Given the description of an element on the screen output the (x, y) to click on. 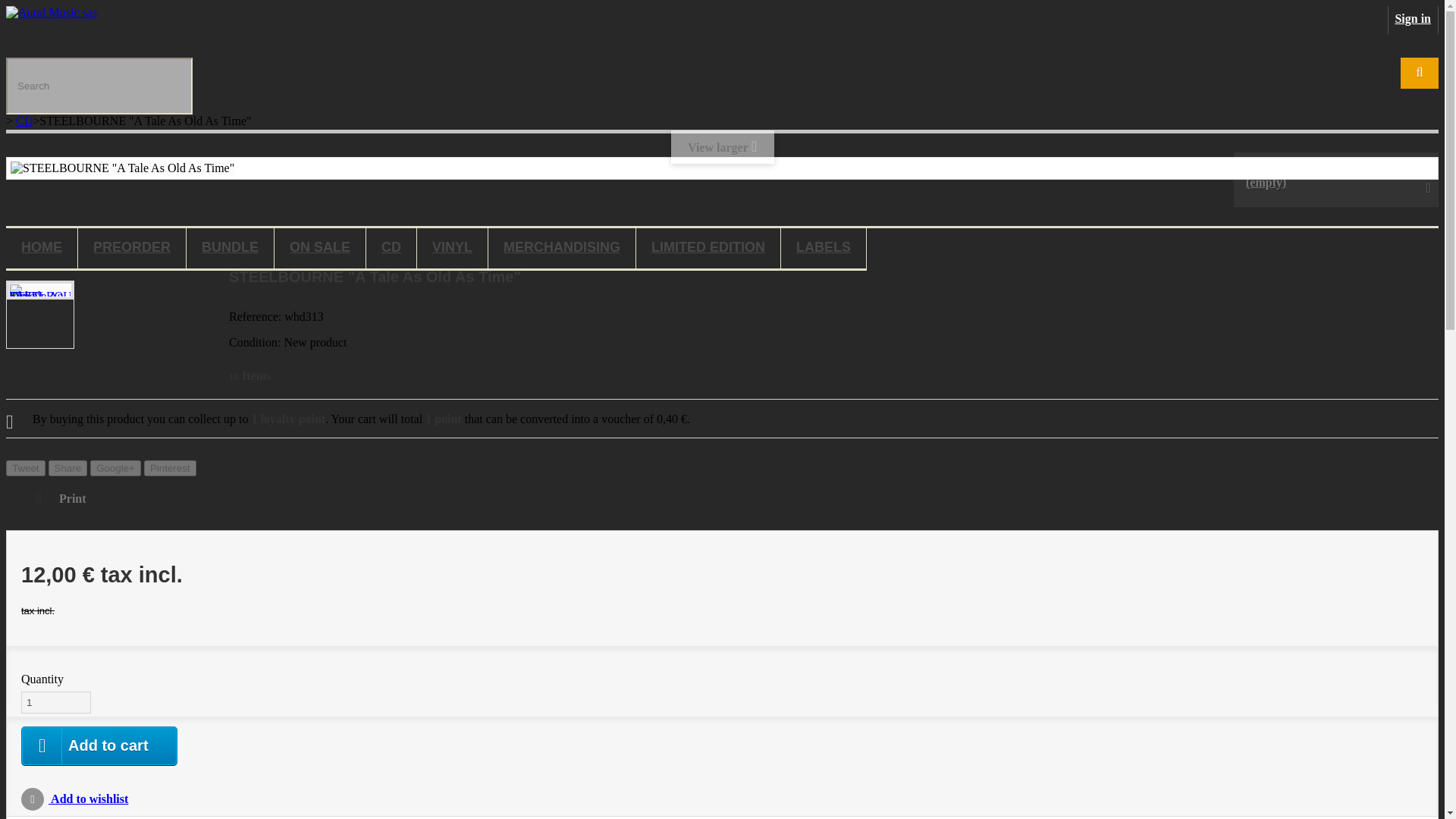
LIMITED EDITION (708, 248)
Tweet (25, 467)
CD (24, 120)
MERCHANDISING (560, 248)
1 (55, 702)
Aural Music sas (51, 11)
CD (391, 248)
BUNDLE (229, 248)
Add to cart (99, 745)
HOME (41, 248)
Labels (823, 248)
ON SALE (320, 248)
Pinterest (170, 467)
BUNDLE (229, 248)
LIMITED EDITION (708, 248)
